Given the description of an element on the screen output the (x, y) to click on. 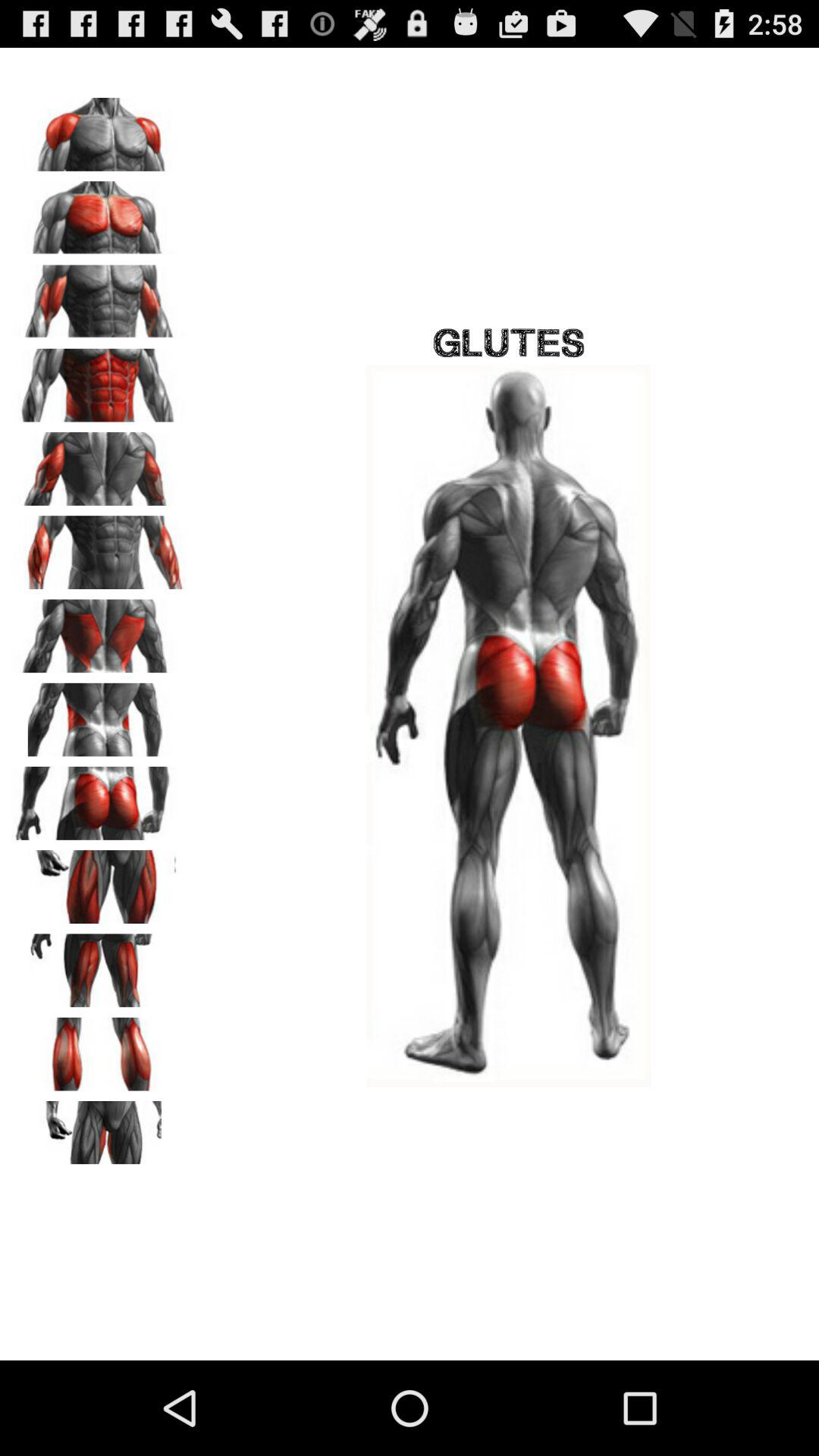
select biceps (99, 296)
